Given the description of an element on the screen output the (x, y) to click on. 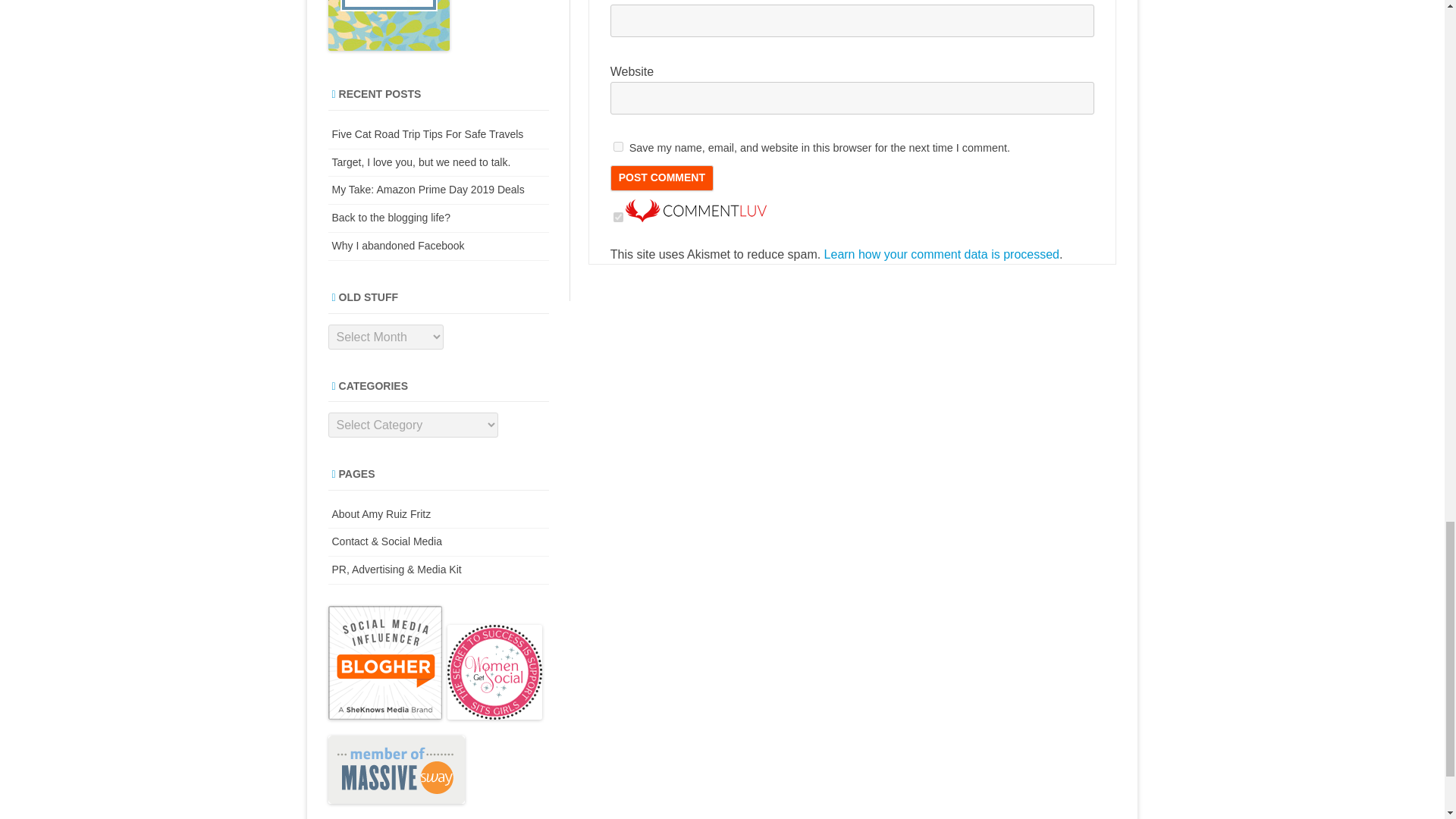
yes (617, 146)
Post Comment (661, 177)
on (617, 216)
